Given the description of an element on the screen output the (x, y) to click on. 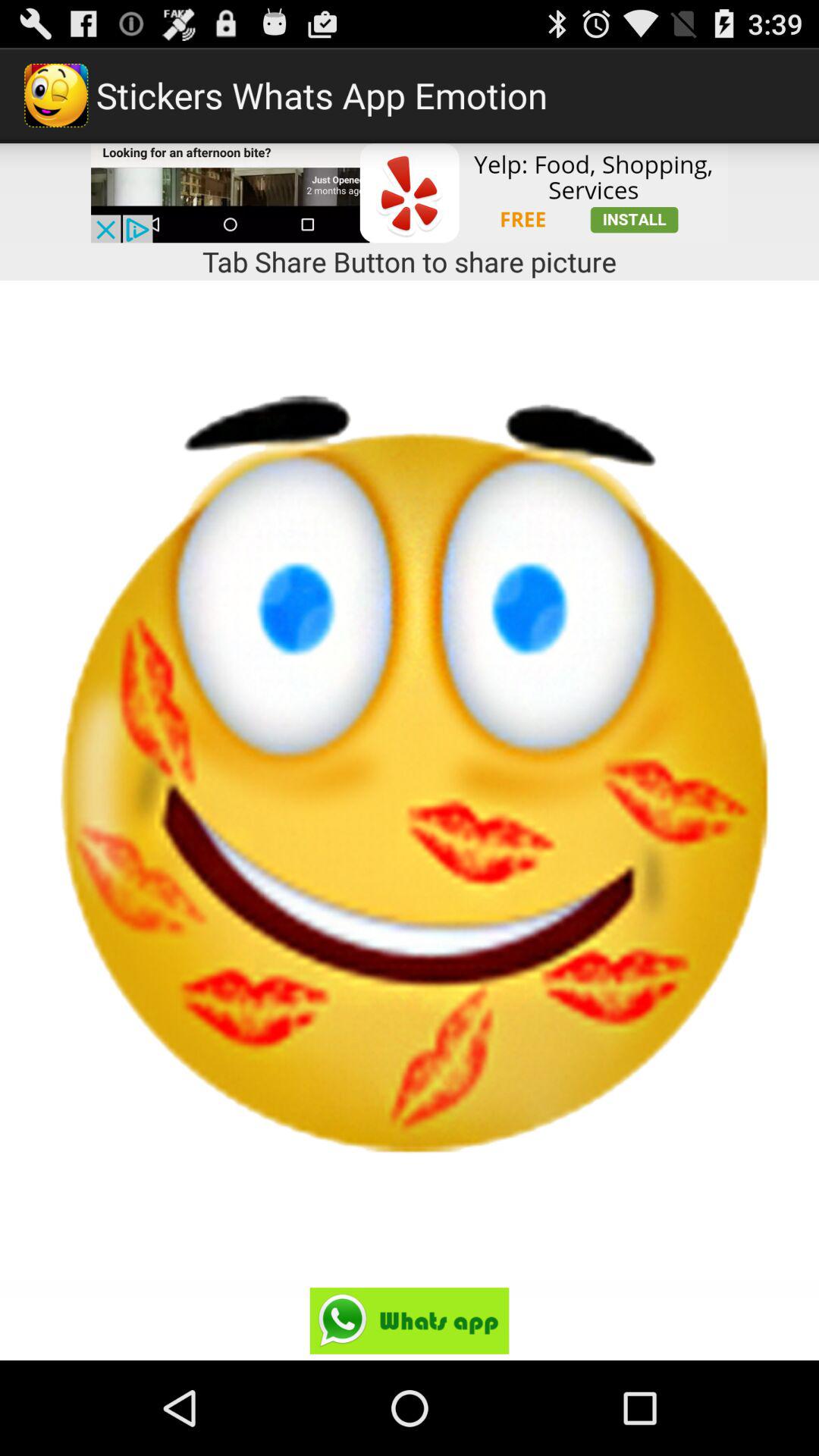
go to next (409, 1320)
